Given the description of an element on the screen output the (x, y) to click on. 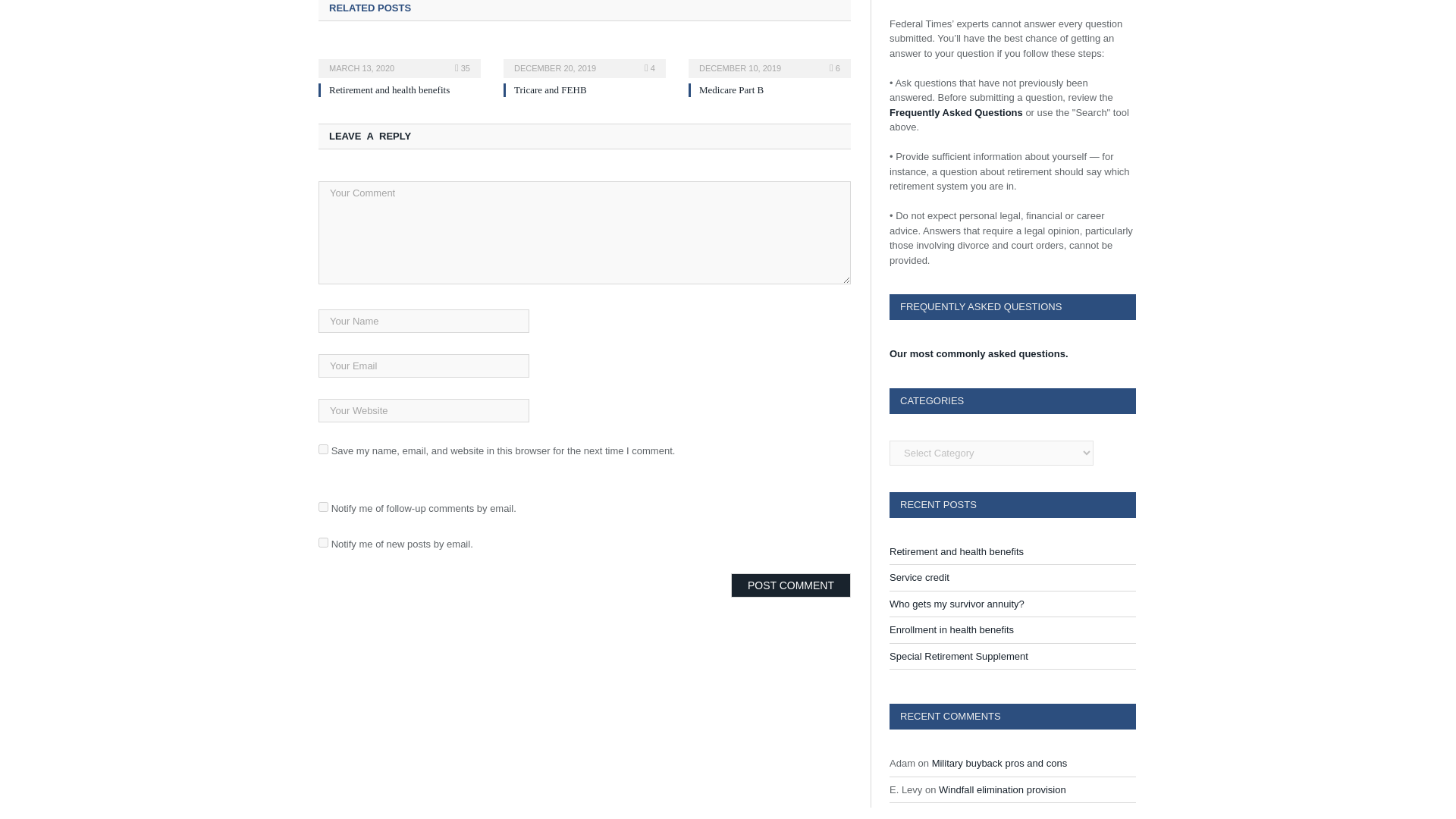
subscribe (323, 542)
subscribe (323, 506)
yes (323, 449)
Post Comment (790, 585)
